Given the description of an element on the screen output the (x, y) to click on. 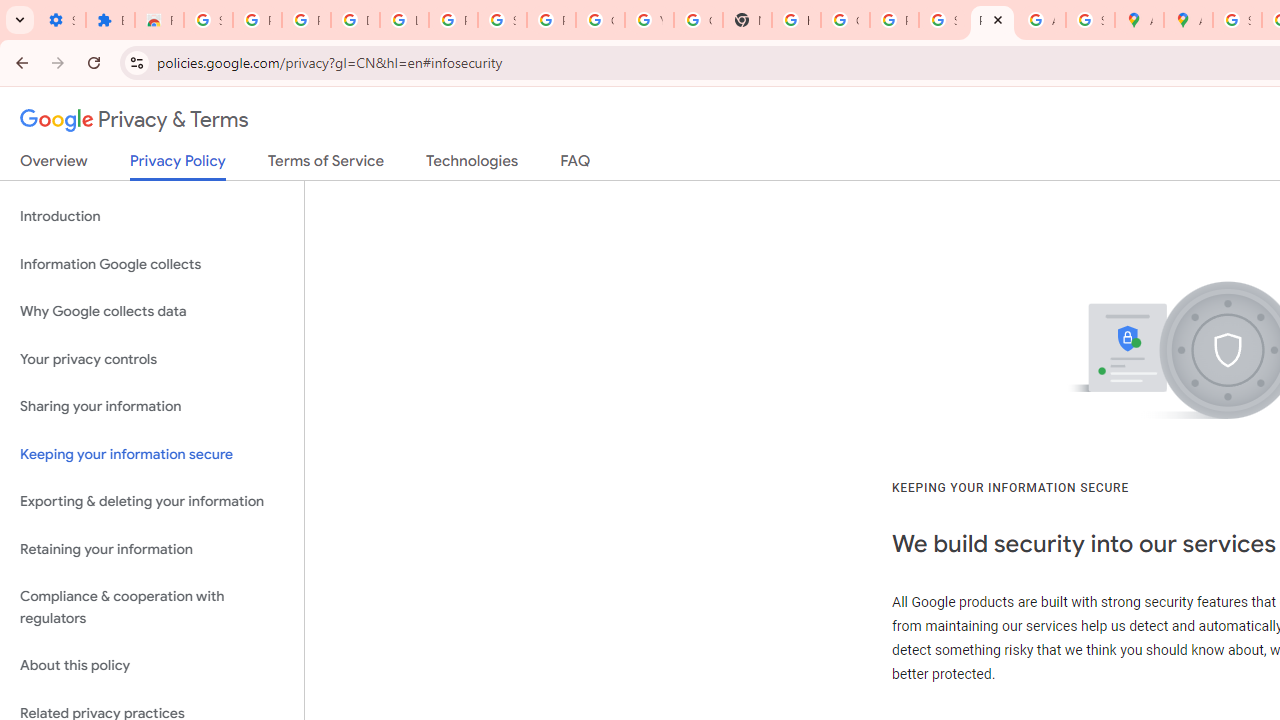
Sign in - Google Accounts (1237, 20)
